Given the description of an element on the screen output the (x, y) to click on. 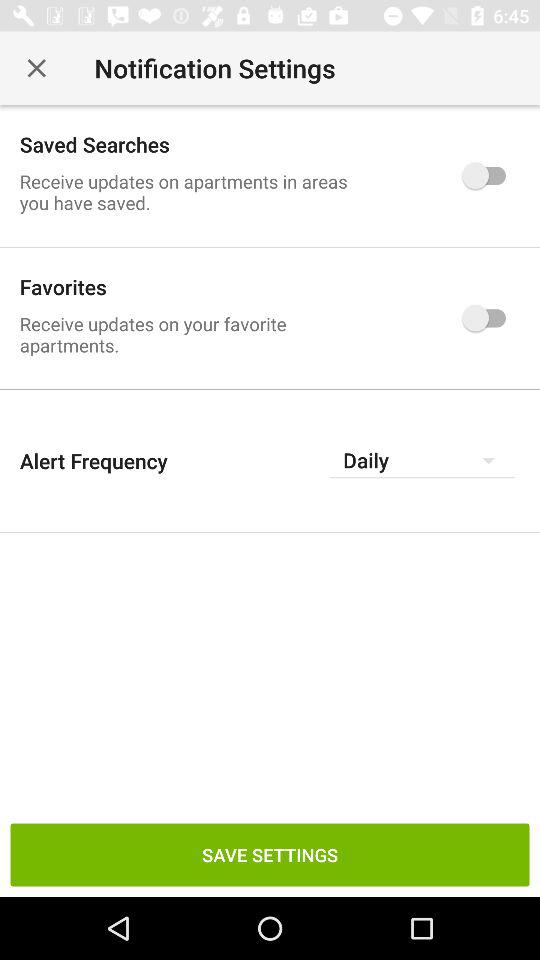
select save settings at the bottom of the page (269, 855)
select the switch which is right to text favorites (488, 317)
click on daily which is on the left side of alert frequency (422, 460)
select the icon which is to the immediate right of saved searches (488, 175)
